Given the description of an element on the screen output the (x, y) to click on. 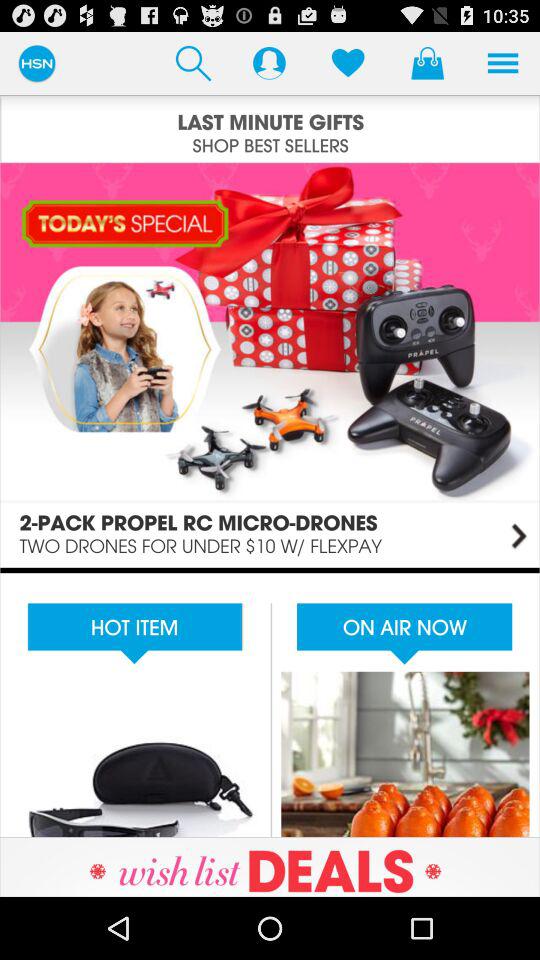
enlarges image (269, 364)
